Given the description of an element on the screen output the (x, y) to click on. 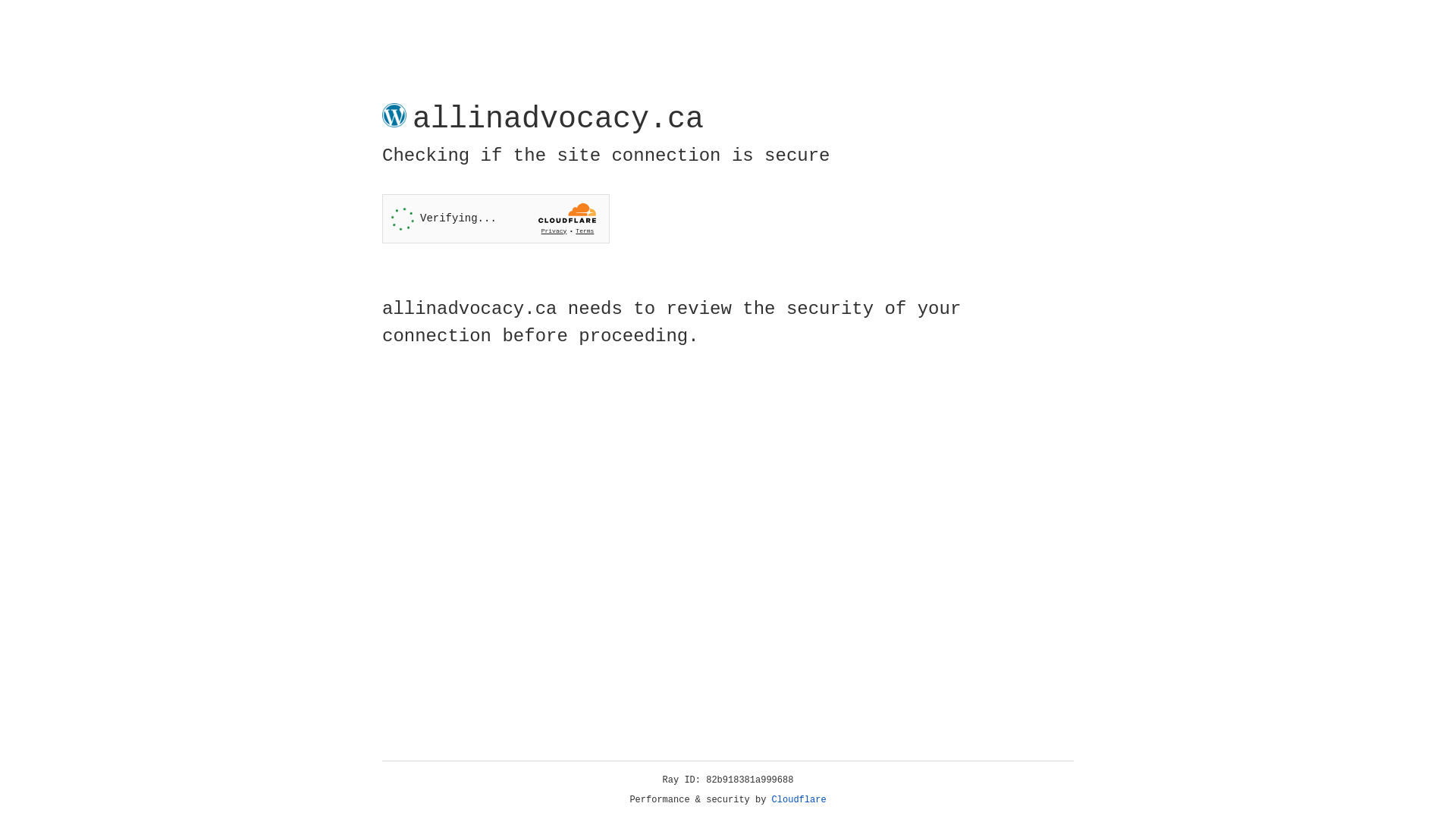
Widget containing a Cloudflare security challenge Element type: hover (495, 218)
Cloudflare Element type: text (798, 799)
